Given the description of an element on the screen output the (x, y) to click on. 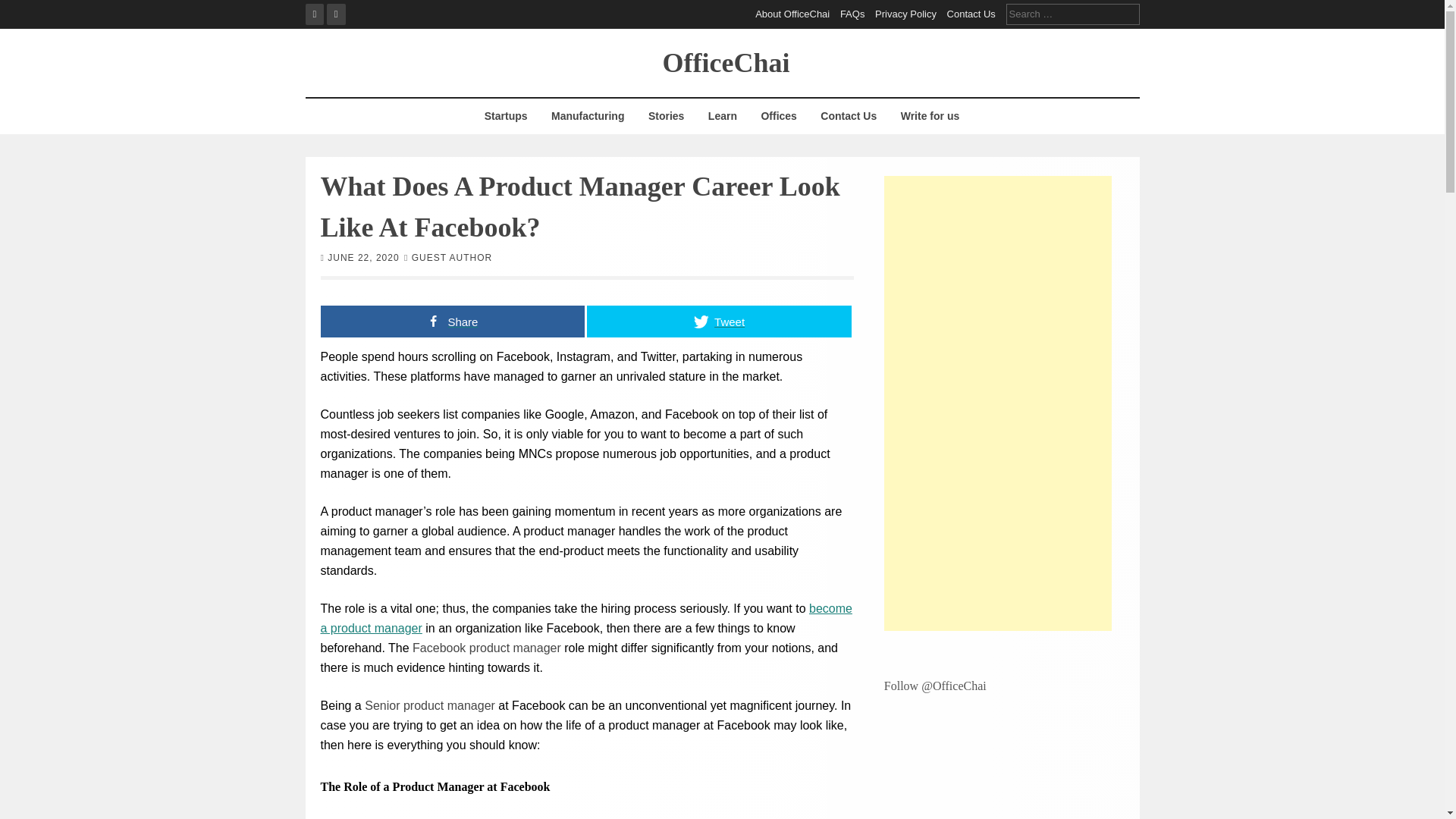
GUEST AUTHOR (452, 256)
About OfficeChai (792, 13)
Contact Us (848, 116)
Share (452, 320)
Offices (778, 116)
FAQs (852, 13)
Startups (505, 116)
Search (23, 9)
become a product manager (585, 617)
Manufacturing (587, 116)
